Given the description of an element on the screen output the (x, y) to click on. 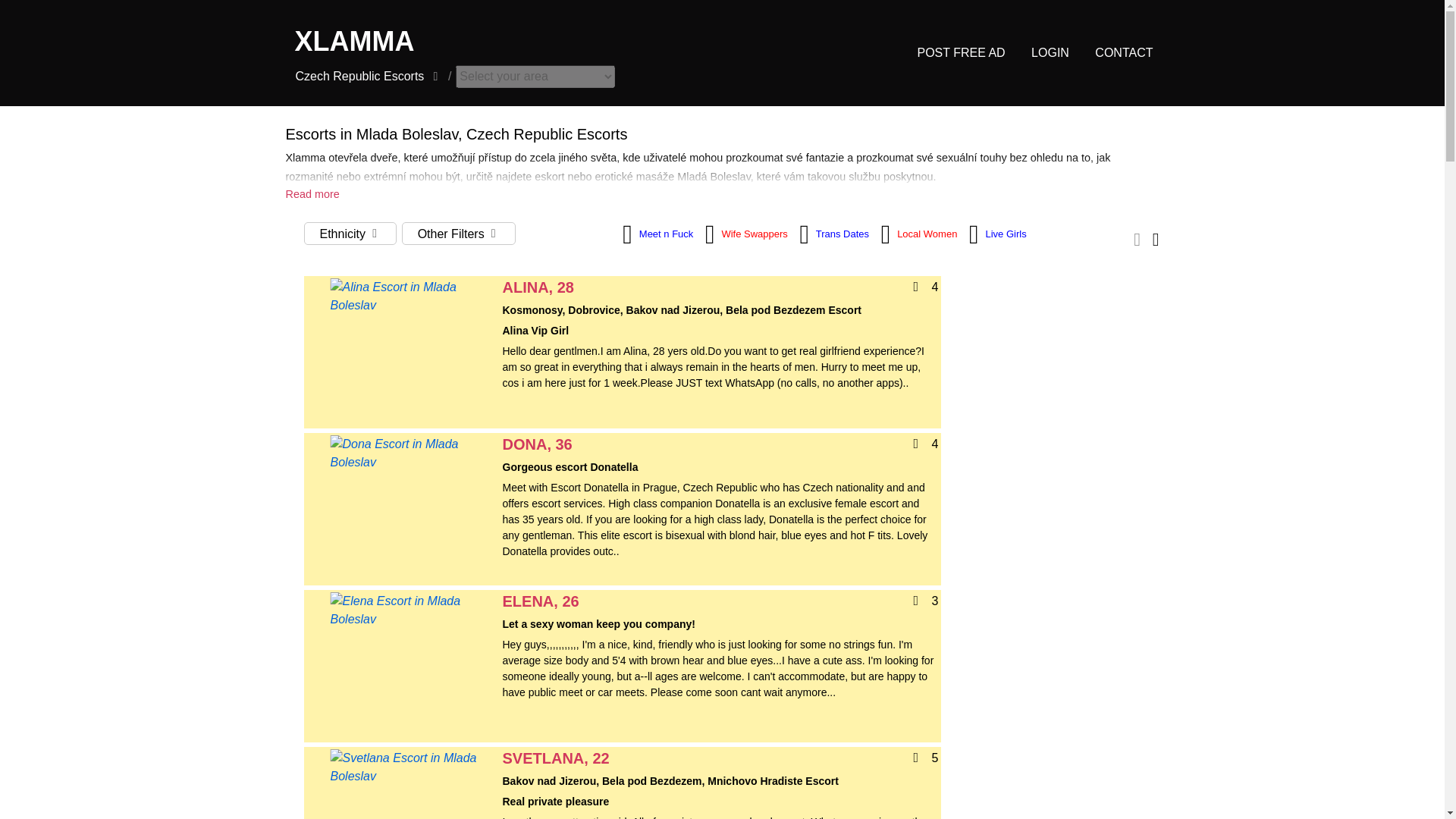
LOGIN (1050, 52)
POST FREE AD (959, 52)
XLAMMA (508, 41)
